Given the description of an element on the screen output the (x, y) to click on. 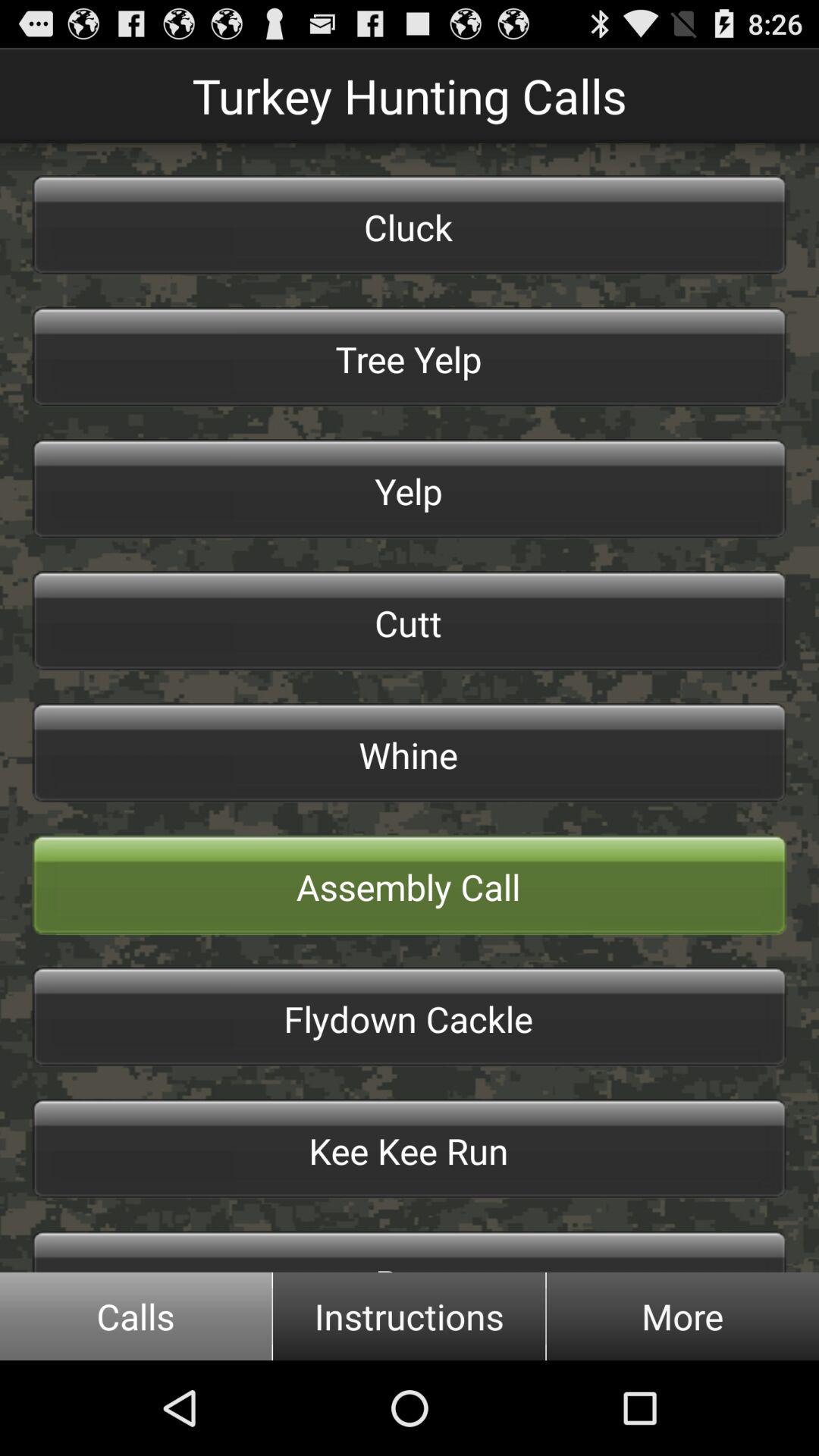
tap button above the whine button (409, 621)
